Given the description of an element on the screen output the (x, y) to click on. 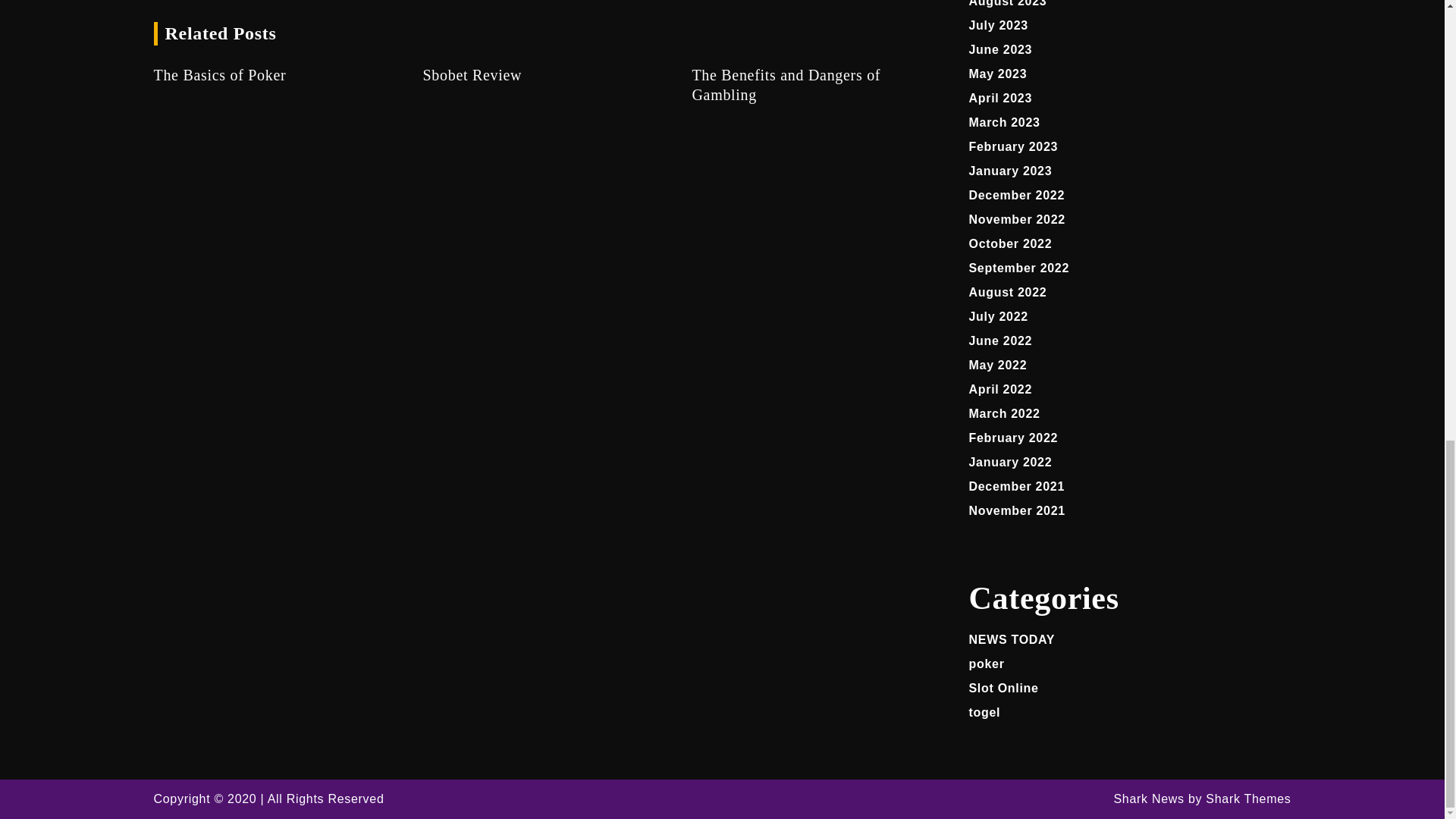
The Benefits and Dangers of Gambling (814, 84)
July 2023 (998, 24)
The Basics of Poker (275, 75)
December 2022 (1017, 195)
March 2023 (1005, 122)
October 2022 (1010, 243)
May 2023 (998, 73)
April 2023 (1000, 97)
June 2023 (1000, 49)
August 2023 (1007, 3)
September 2022 (1019, 267)
November 2022 (1017, 219)
Sbobet Review (545, 75)
February 2023 (1013, 146)
January 2023 (1010, 170)
